Given the description of an element on the screen output the (x, y) to click on. 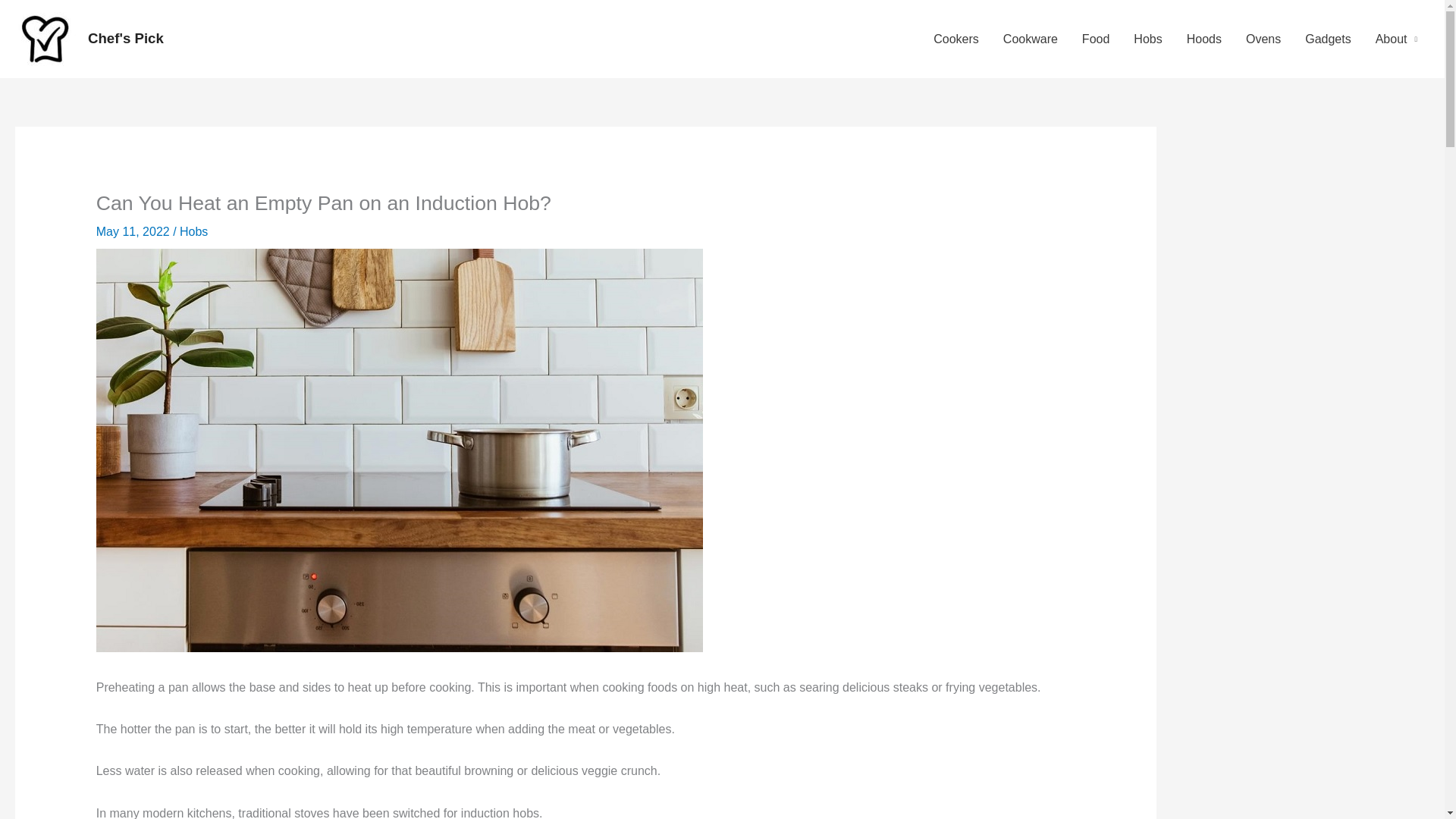
Hoods (1203, 39)
Cookware (1030, 39)
Gadgets (1327, 39)
Hobs (1147, 39)
Hobs (193, 231)
Cookers (956, 39)
Food (1095, 39)
Ovens (1262, 39)
About (1395, 39)
Chef's Pick (125, 37)
